Given the description of an element on the screen output the (x, y) to click on. 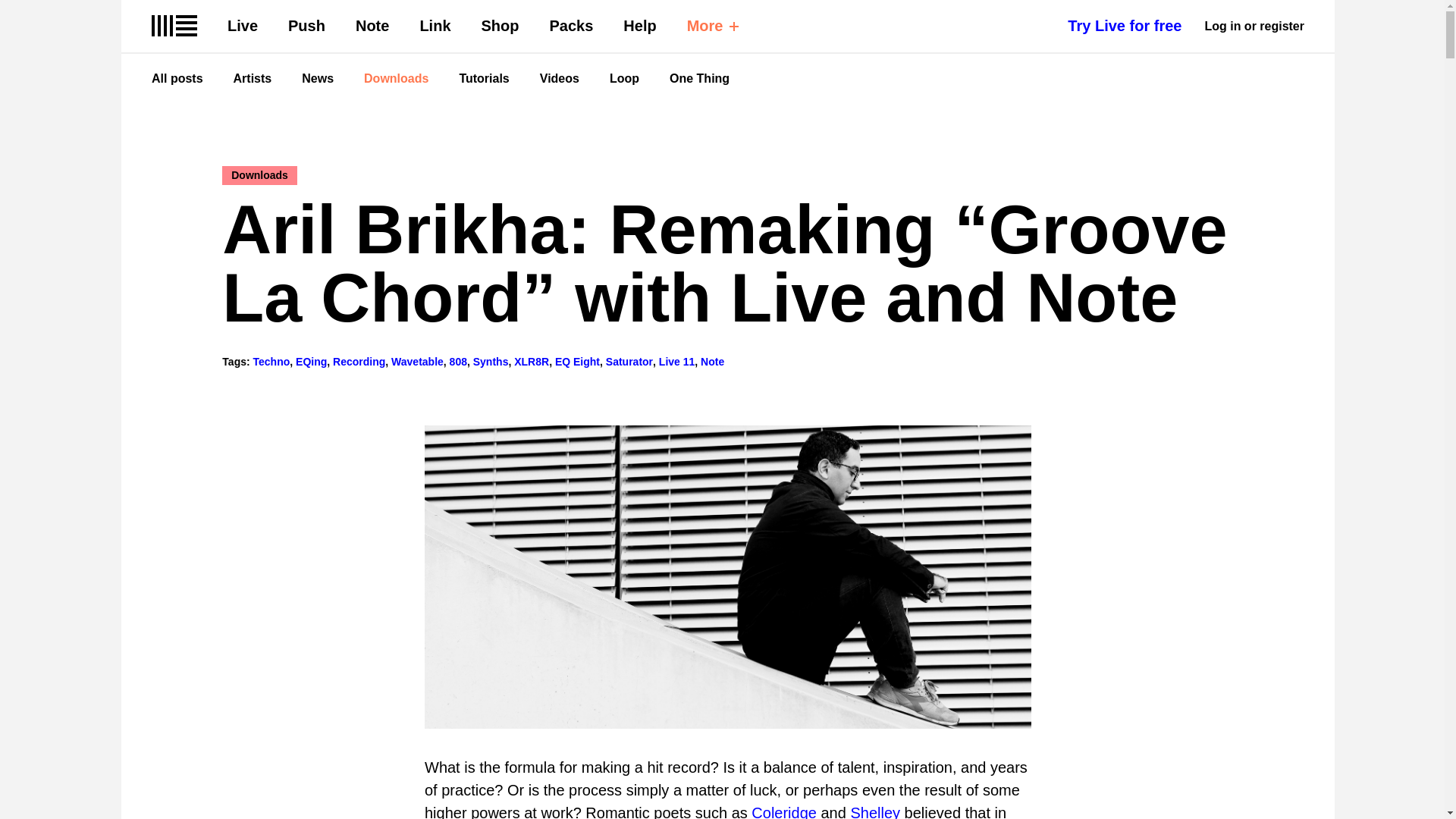
Videos (559, 78)
Artists (252, 78)
Link (434, 25)
Log in or register (1254, 25)
Push (306, 25)
Live (242, 25)
News (317, 78)
Ableton Homepage (173, 25)
One Thing (699, 78)
Tutorials (483, 78)
